Given the description of an element on the screen output the (x, y) to click on. 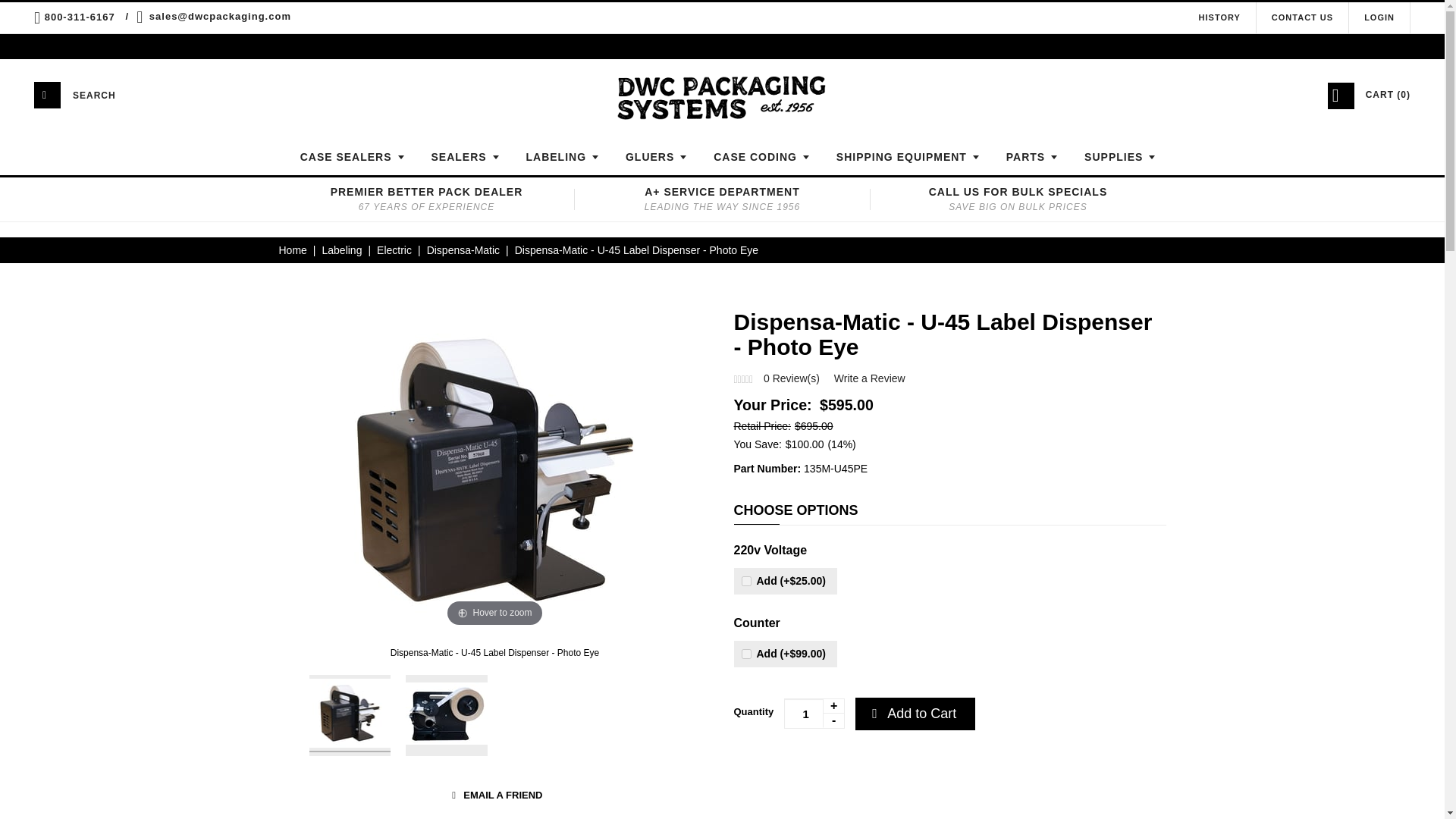
Dispensa-Matic - U-45 Label Dispenser - Photo Eye  (495, 652)
1 (814, 713)
Dispensa-Matic - U-45 Label Dispenser - Photo Eye  (349, 715)
CONTACT US (1302, 17)
HISTORY (1219, 17)
CASE SEALERS (346, 156)
LABELING (556, 156)
SEALERS (459, 156)
800-311-6167 (80, 17)
PayPal (828, 769)
LOGIN (1379, 17)
